Given the description of an element on the screen output the (x, y) to click on. 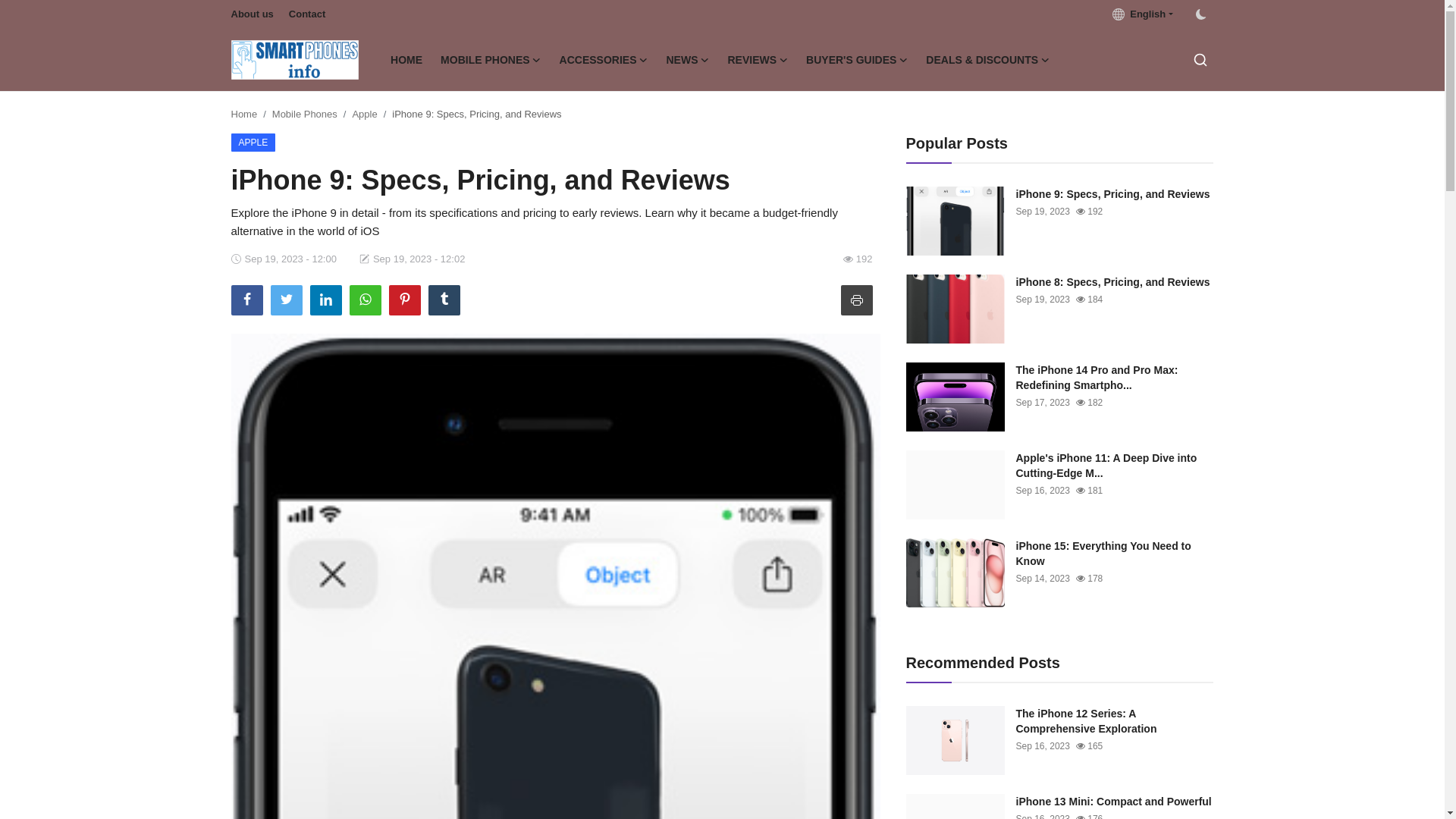
ACCESSORIES (604, 59)
BUYER'S GUIDES (856, 59)
Contact (306, 14)
NEWS (686, 59)
MOBILE PHONES (490, 59)
REVIEWS (758, 59)
About us (251, 14)
  English (1142, 14)
dark (1200, 14)
